Given the description of an element on the screen output the (x, y) to click on. 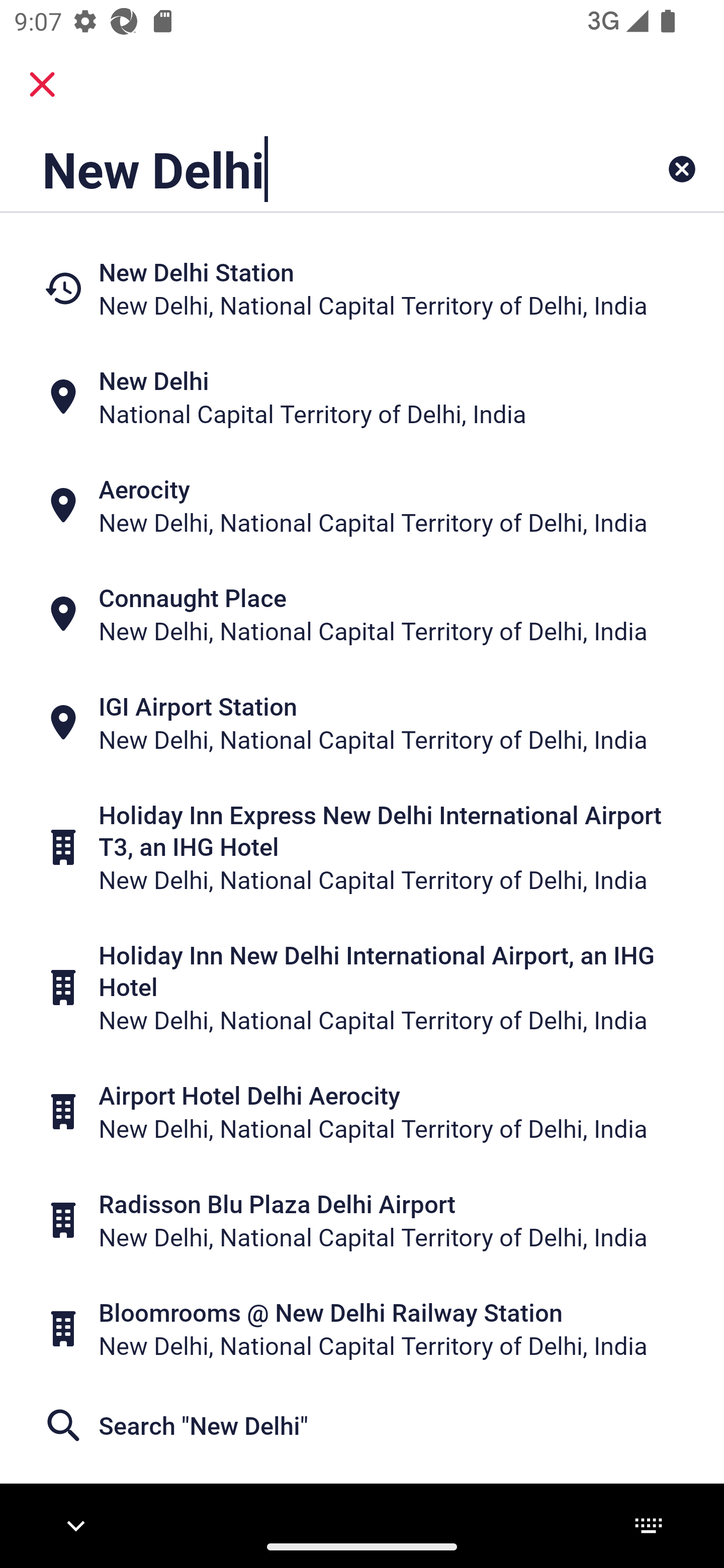
close. (42, 84)
Clear (681, 169)
New Delhi (298, 169)
Search "New Delhi" (361, 1424)
